Given the description of an element on the screen output the (x, y) to click on. 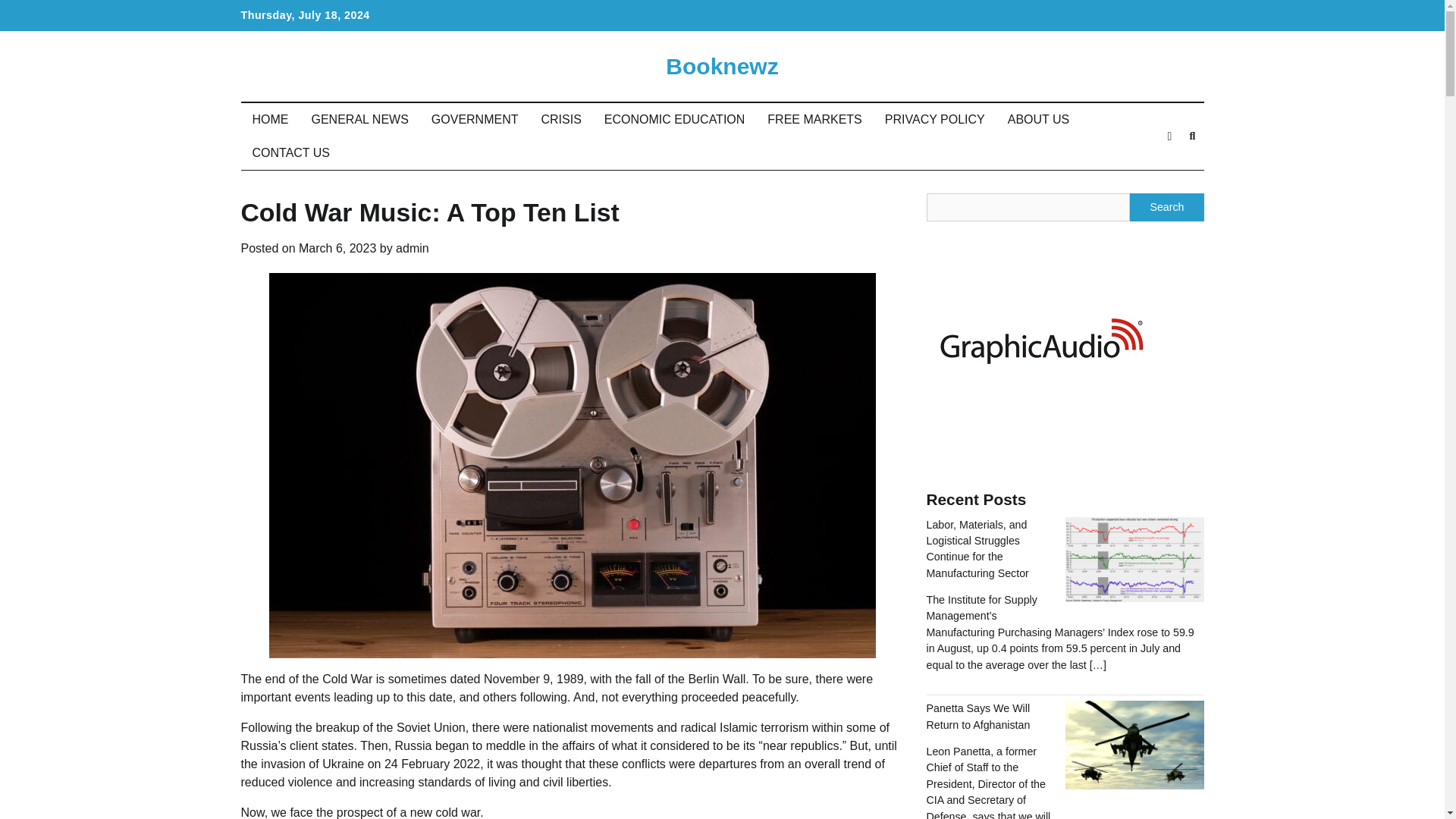
View Random Post (1169, 136)
General news (975, 15)
HOME (270, 119)
Free Markets (1098, 15)
CONTACT US (291, 152)
admin (412, 247)
PRIVACY POLICY (934, 119)
Crisis (1037, 15)
CRISIS (560, 119)
Government (1006, 15)
Search (1192, 136)
ABOUT US (1038, 119)
Home (945, 15)
GOVERNMENT (474, 119)
GENERAL NEWS (359, 119)
